Given the description of an element on the screen output the (x, y) to click on. 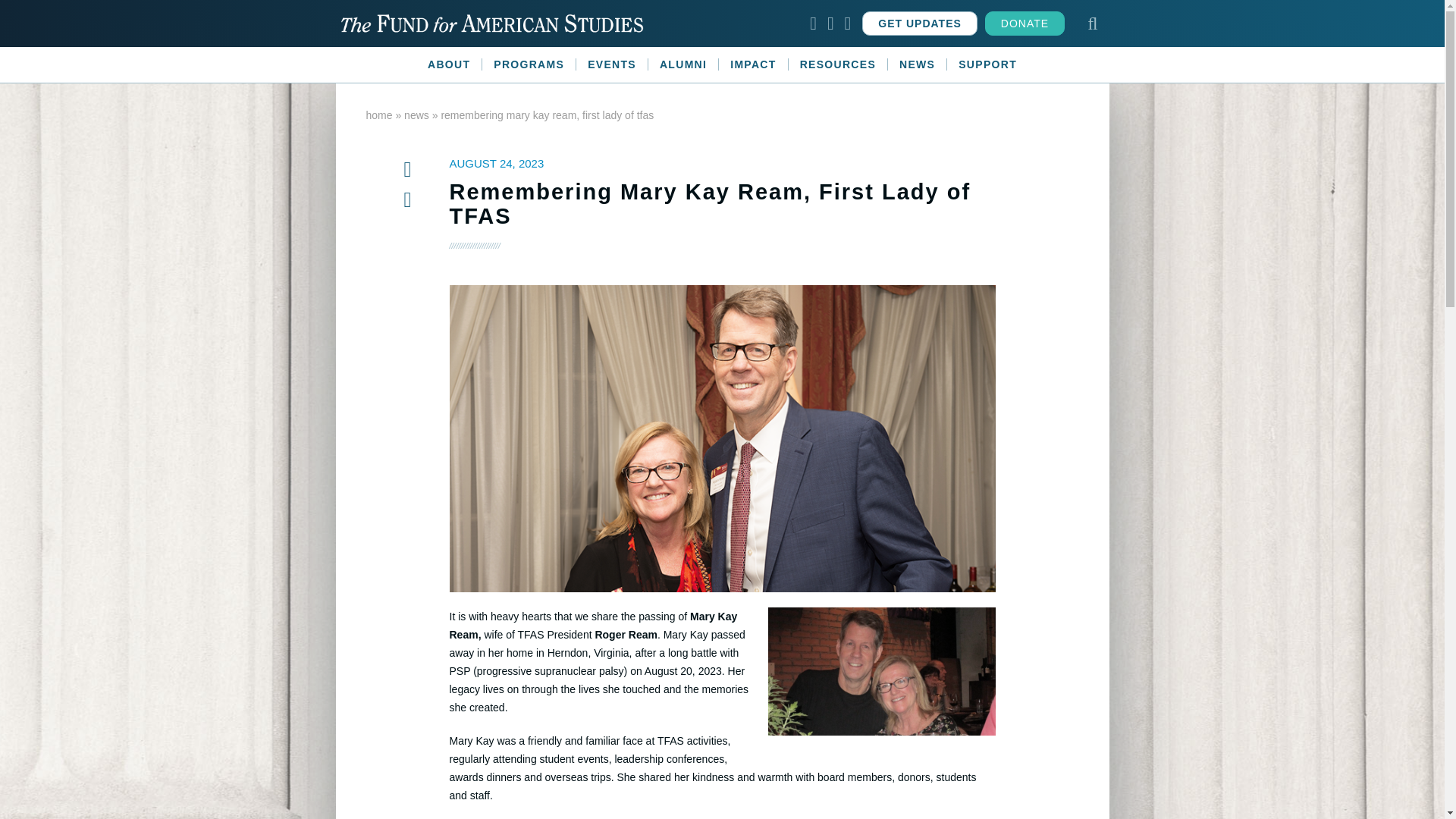
SUPPORT (987, 64)
RESOURCES (838, 64)
news (416, 114)
Get Updates (918, 23)
ALUMNI (683, 64)
Donate (1024, 23)
NEWS (917, 64)
Donate (1024, 23)
PROGRAMS (528, 64)
EVENTS (611, 64)
ABOUT (448, 64)
home (378, 114)
IMPACT (753, 64)
Get Updates (918, 23)
